Given the description of an element on the screen output the (x, y) to click on. 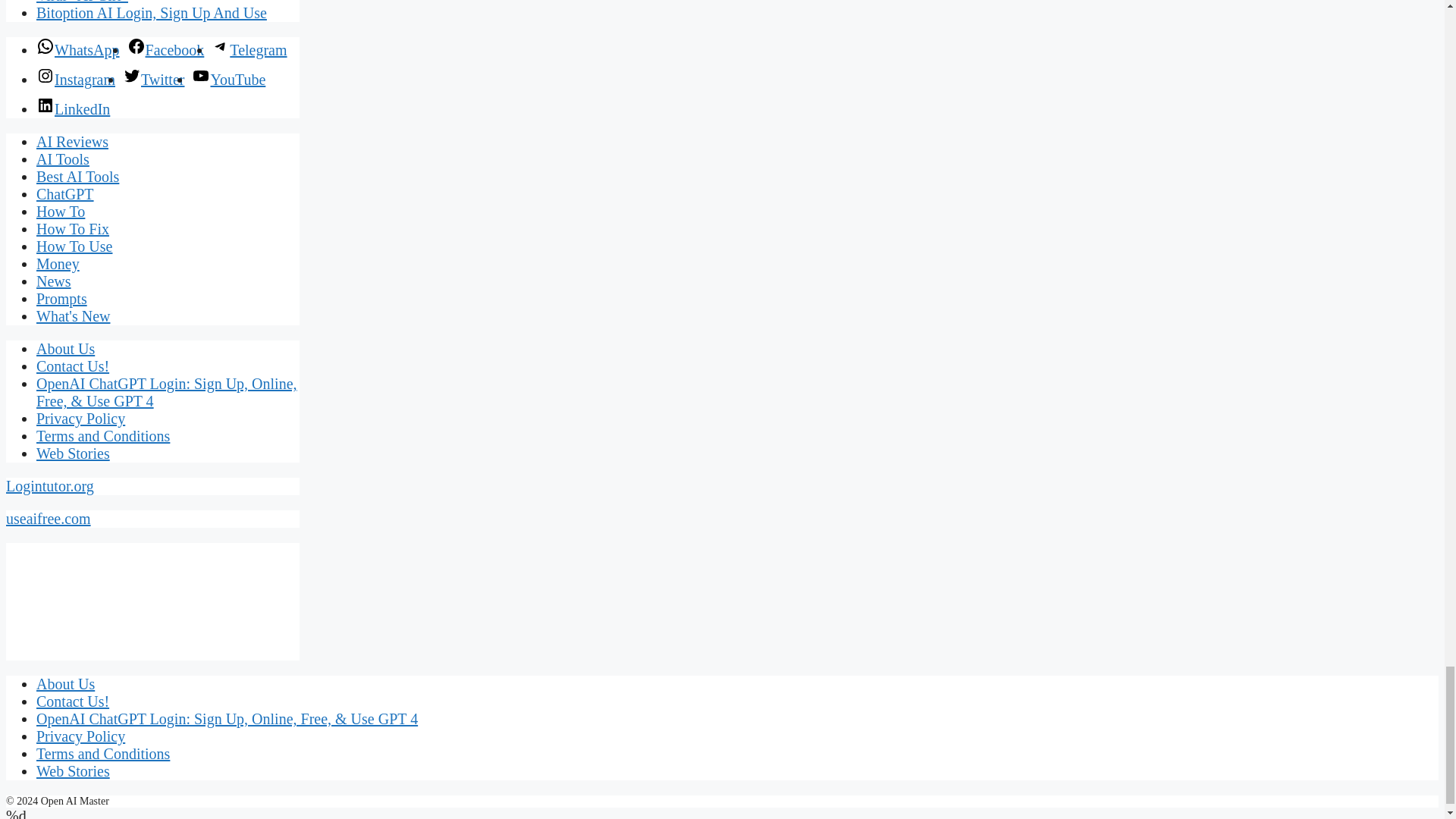
Bitoption AI Login, Sign Up And Use (151, 12)
Telegram (248, 49)
YouTube (228, 79)
WhatsApp (77, 49)
Instagram (75, 79)
Facebook (166, 49)
Twitter (153, 79)
